Given the description of an element on the screen output the (x, y) to click on. 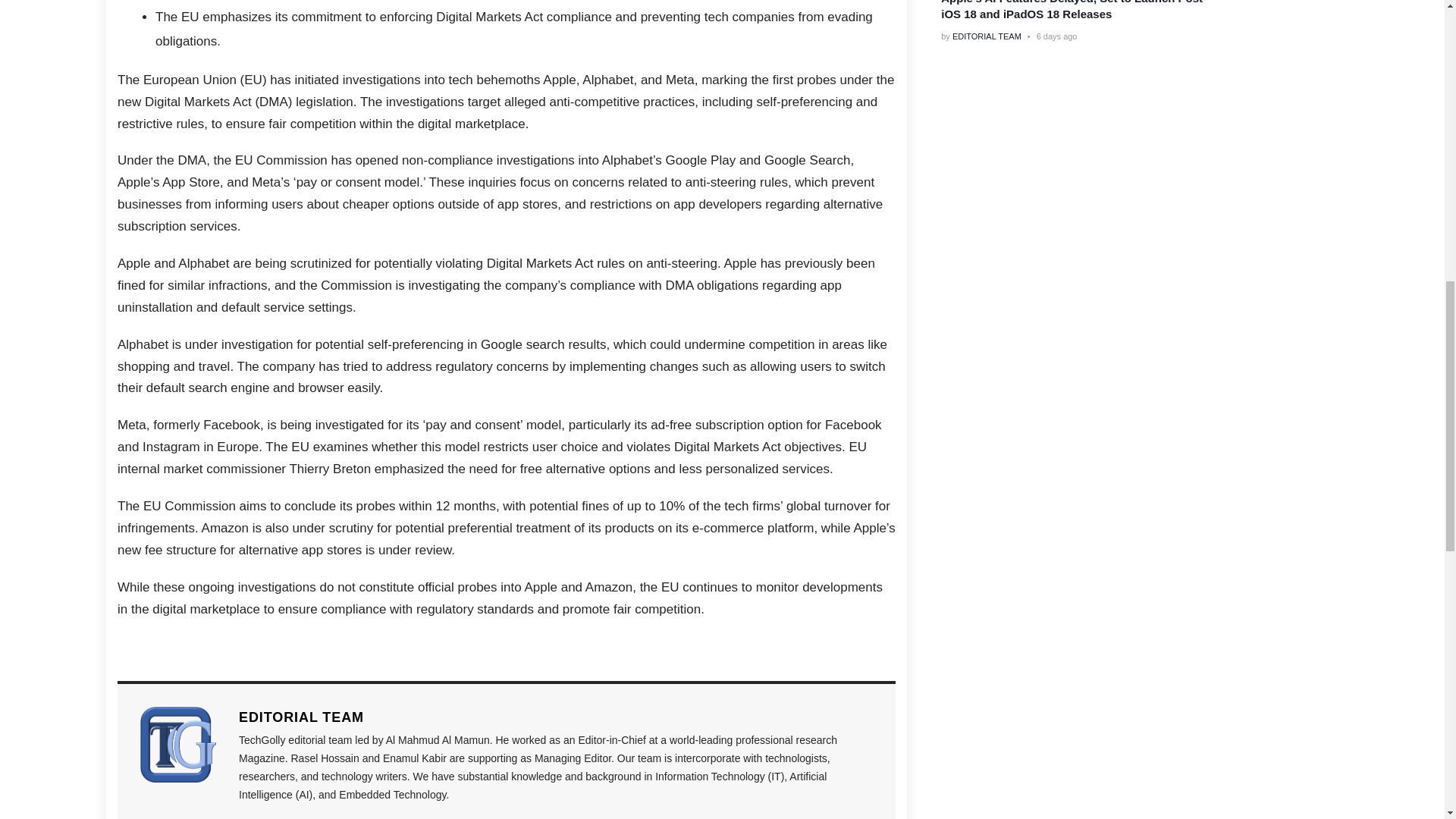
EDITORIAL TEAM (555, 717)
